Given the description of an element on the screen output the (x, y) to click on. 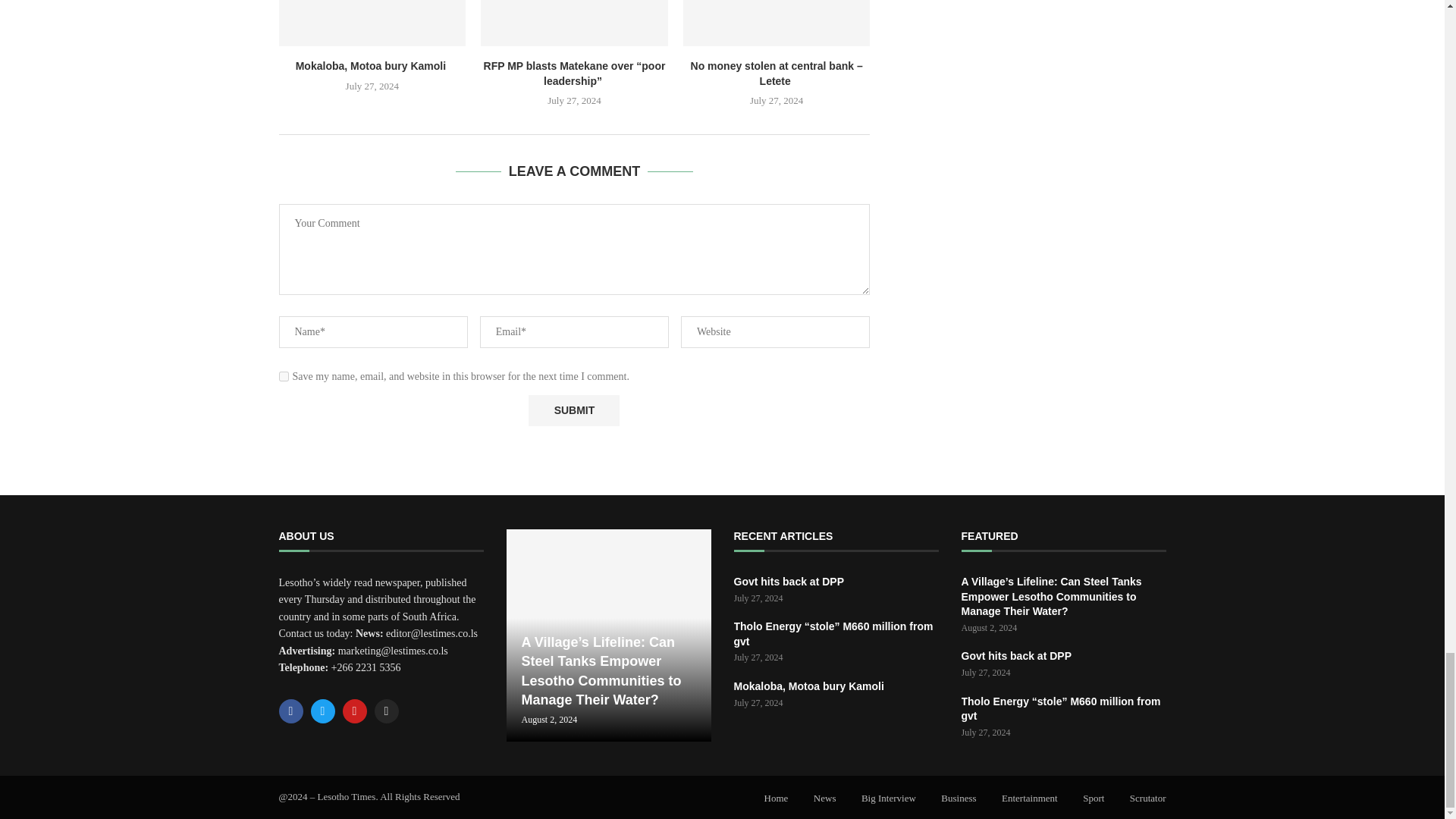
yes (283, 376)
Submit (574, 409)
